Given the description of an element on the screen output the (x, y) to click on. 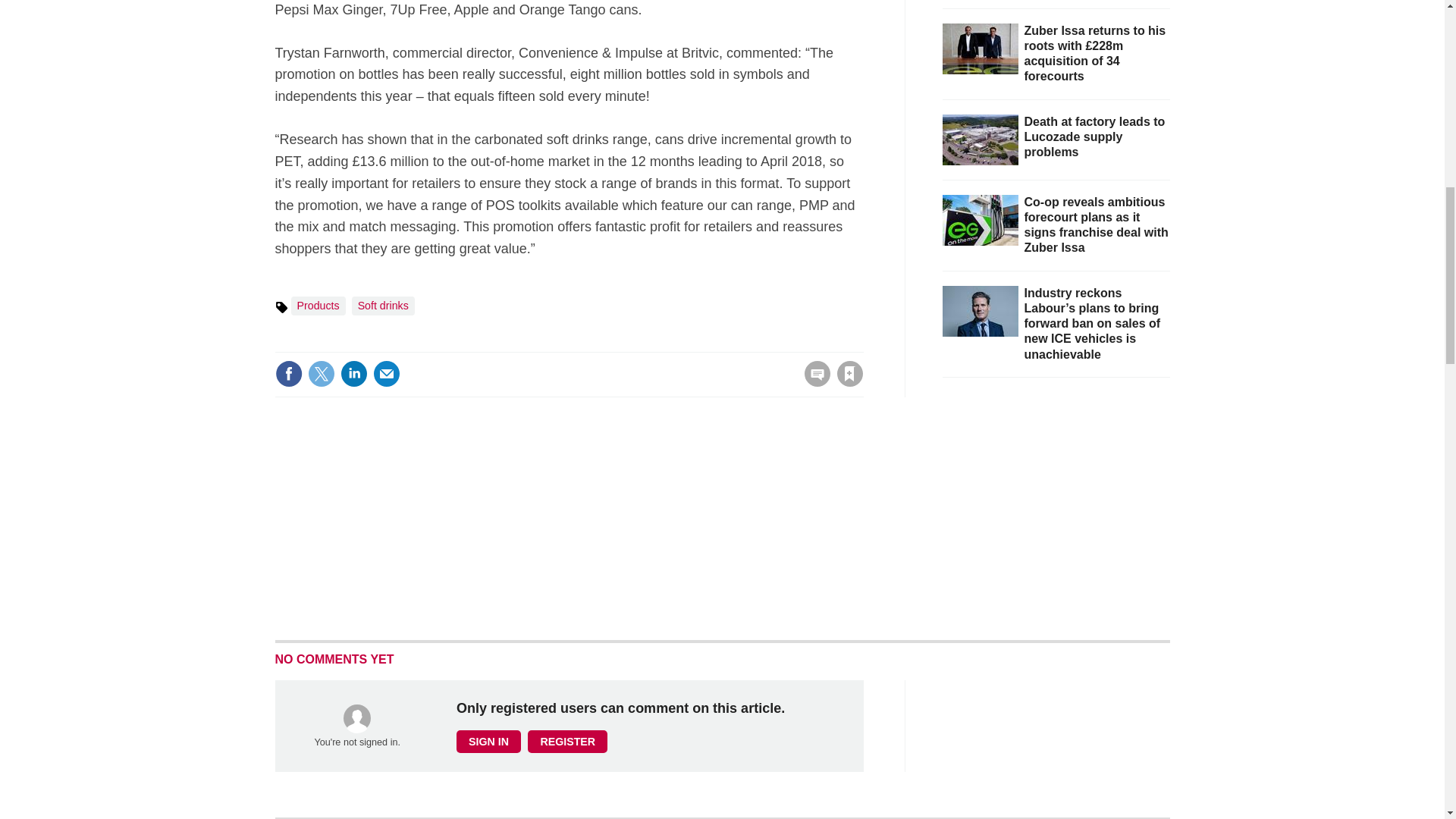
No comments (812, 382)
3rd party ad content (1055, 508)
Share this on Facebook (288, 373)
Share this on Twitter (320, 373)
Share this on Linked in (352, 373)
Email this article (386, 373)
